Given the description of an element on the screen output the (x, y) to click on. 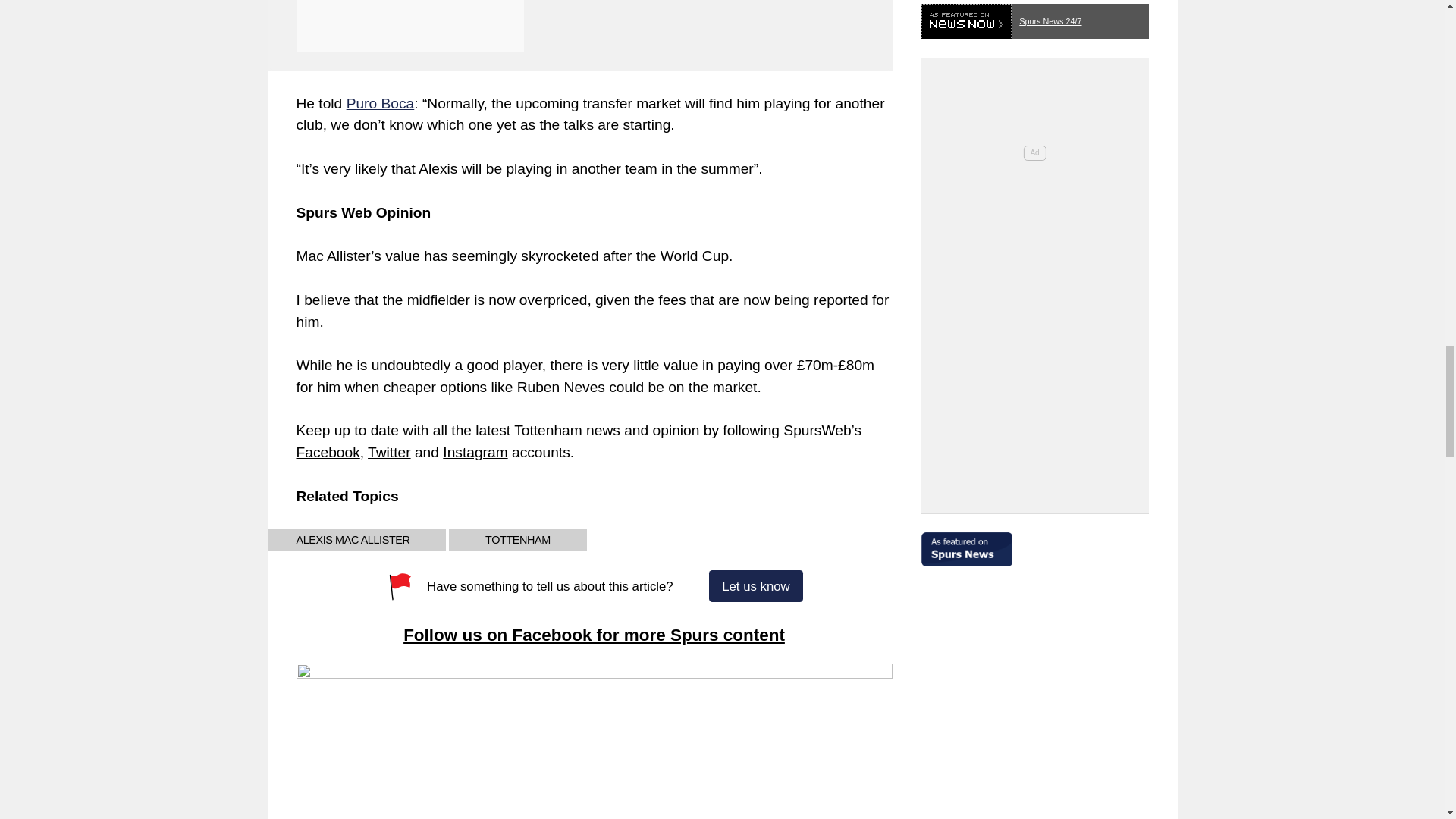
Instagram (474, 452)
TOTTENHAM (517, 540)
ALEXIS MAC ALLISTER (352, 540)
Twitter (389, 452)
Puro Boca (380, 103)
Facebook (327, 452)
